Given the description of an element on the screen output the (x, y) to click on. 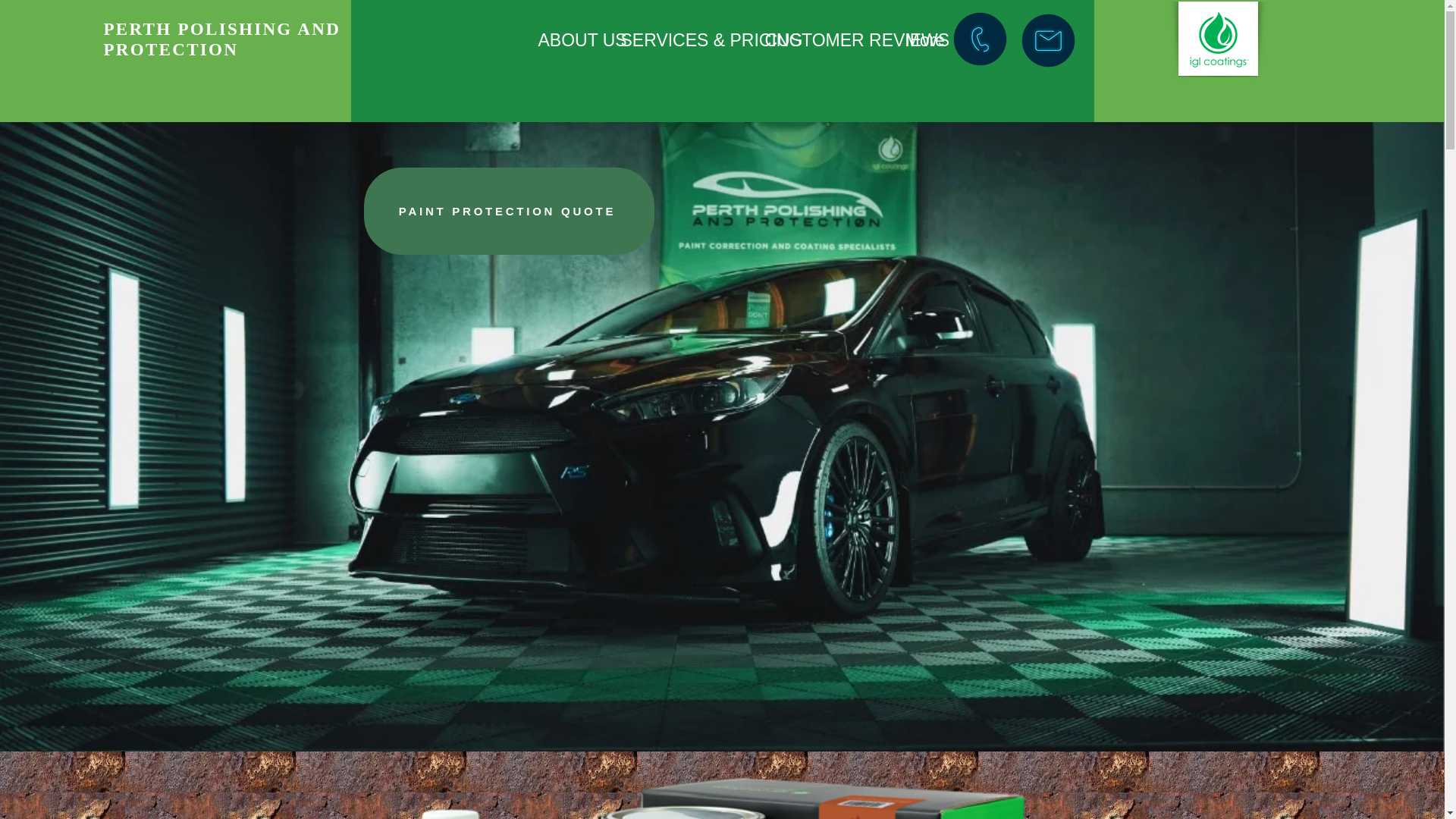
CUSTOMER REVIEWS (823, 40)
ABOUT US (566, 40)
PAINT PROTECTION QUOTE (508, 210)
